Given the description of an element on the screen output the (x, y) to click on. 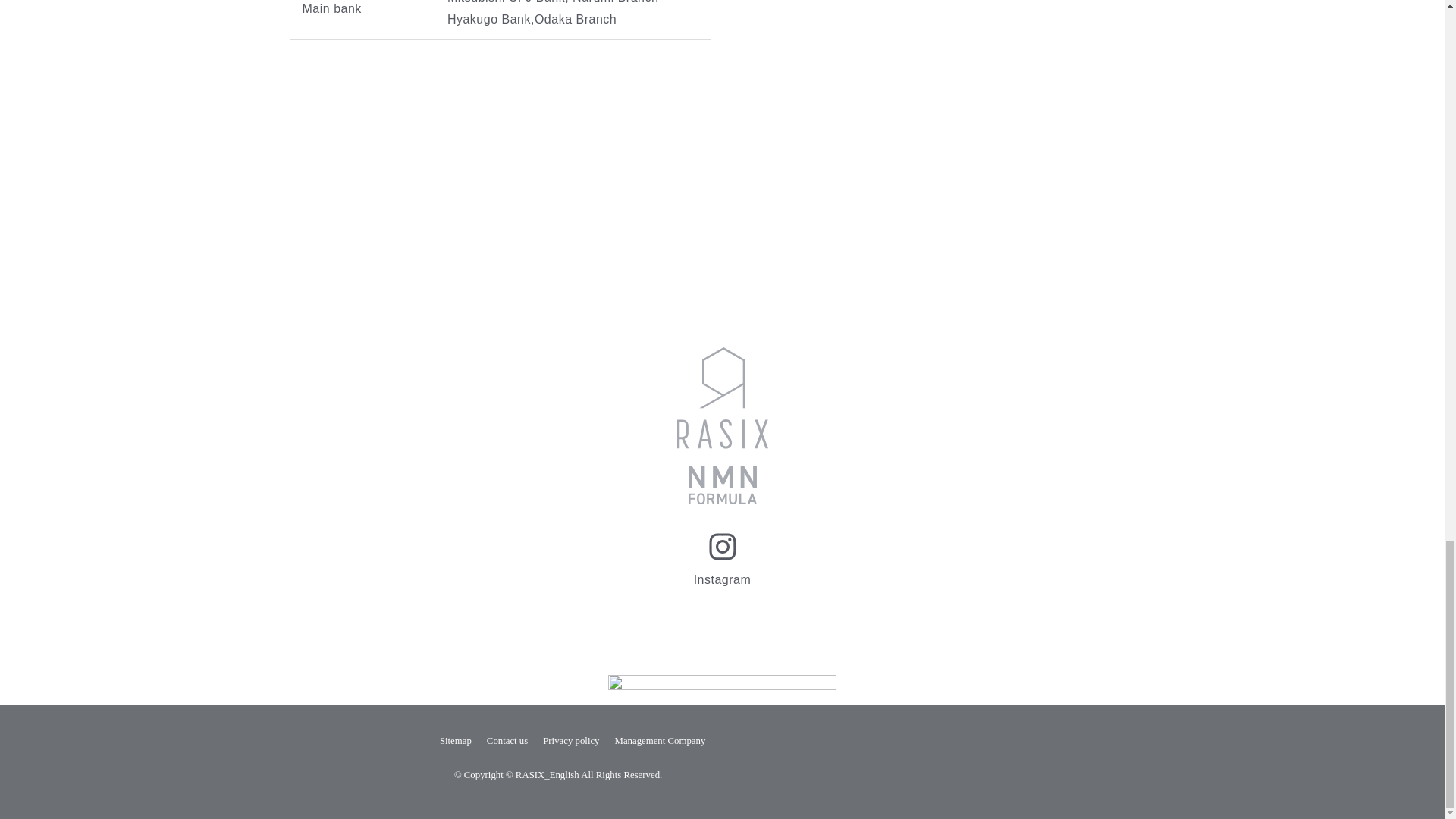
Management Company (660, 740)
Sitemap (455, 740)
Contact us (506, 740)
Privacy policy (570, 740)
